Given the description of an element on the screen output the (x, y) to click on. 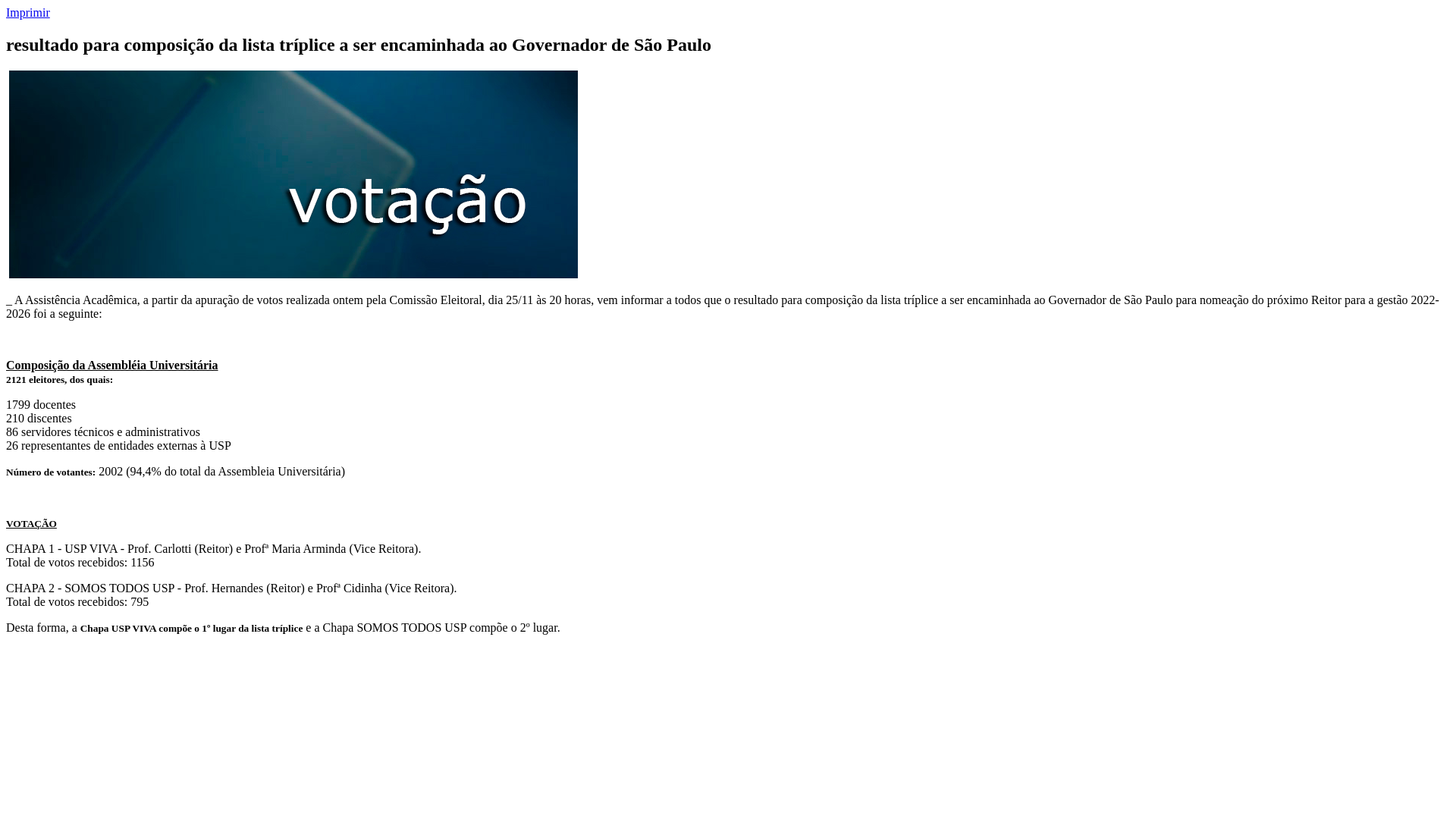
Imprimir Element type: text (28, 12)
